Given the description of an element on the screen output the (x, y) to click on. 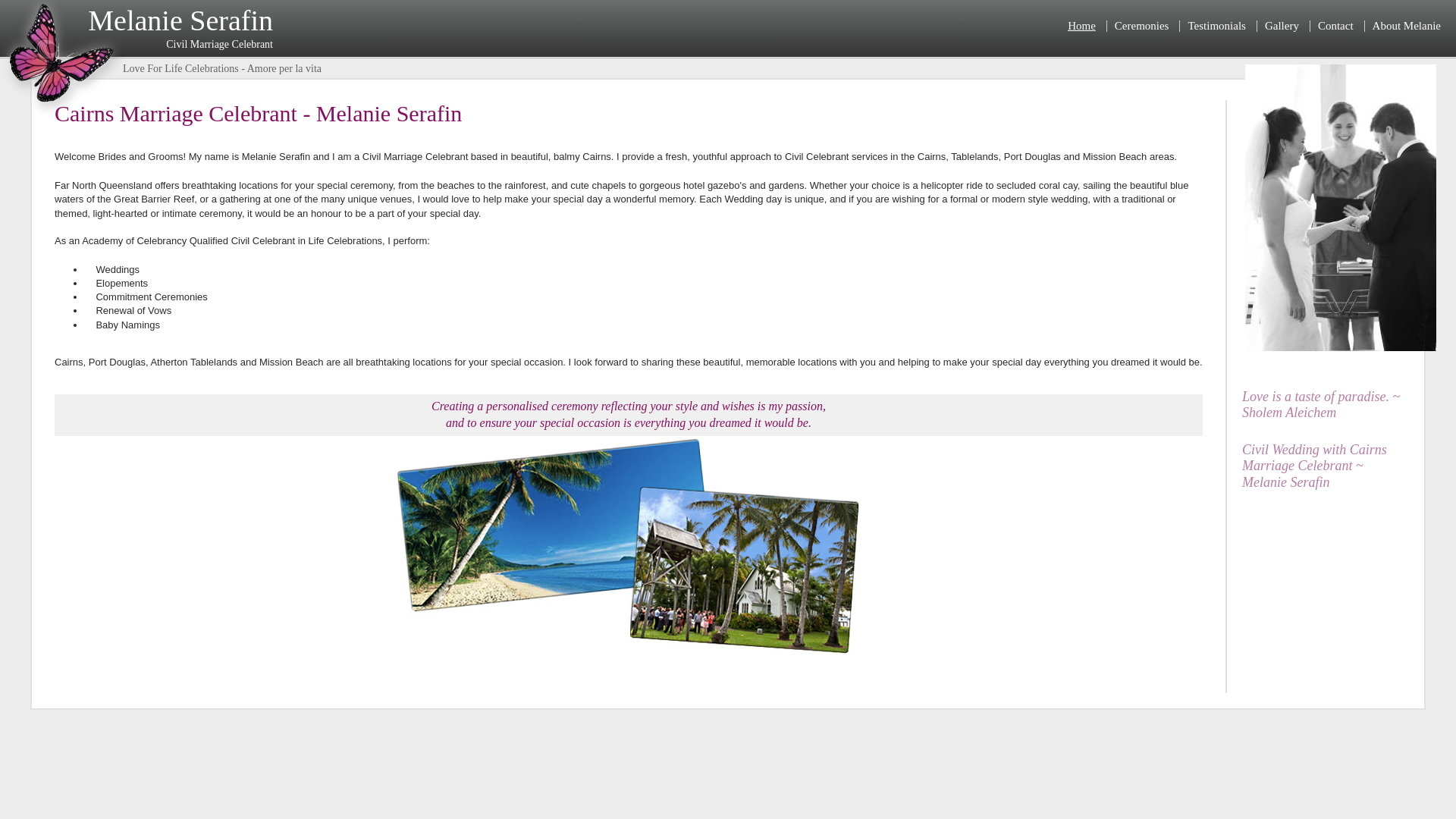
Ceremonies Element type: text (1141, 25)
Skip to main content Element type: text (40, 6)
Melanie Serafin Element type: text (180, 20)
Testimonials Element type: text (1216, 25)
About Melanie Element type: text (1406, 25)
Contact Element type: text (1335, 25)
Melanie Serafin Element type: hover (63, 113)
Home Element type: text (1081, 25)
Gallery Element type: text (1281, 25)
